Given the description of an element on the screen output the (x, y) to click on. 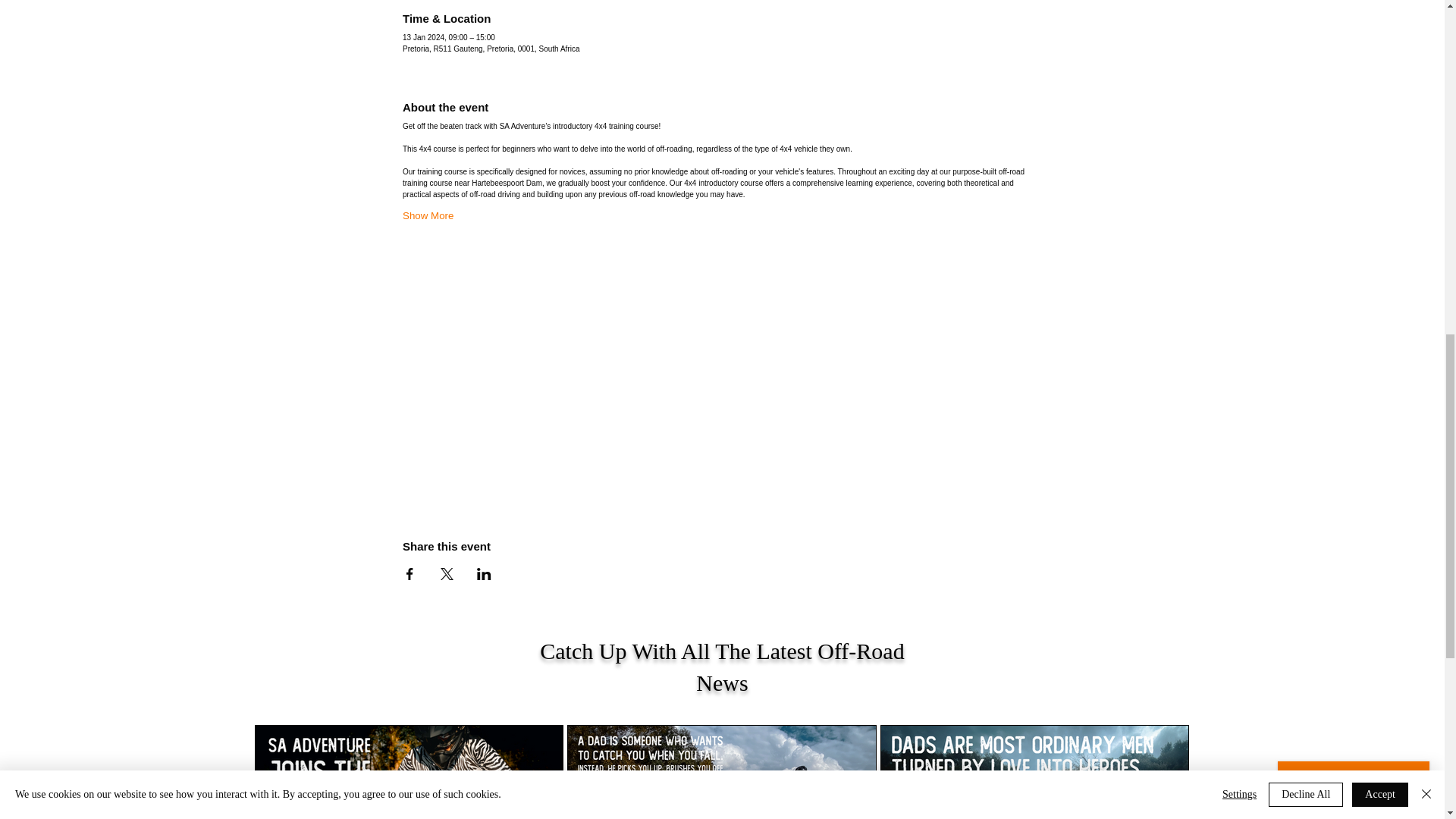
Show More (427, 215)
Catch Up With All The Latest Off-Road News (722, 666)
